Given the description of an element on the screen output the (x, y) to click on. 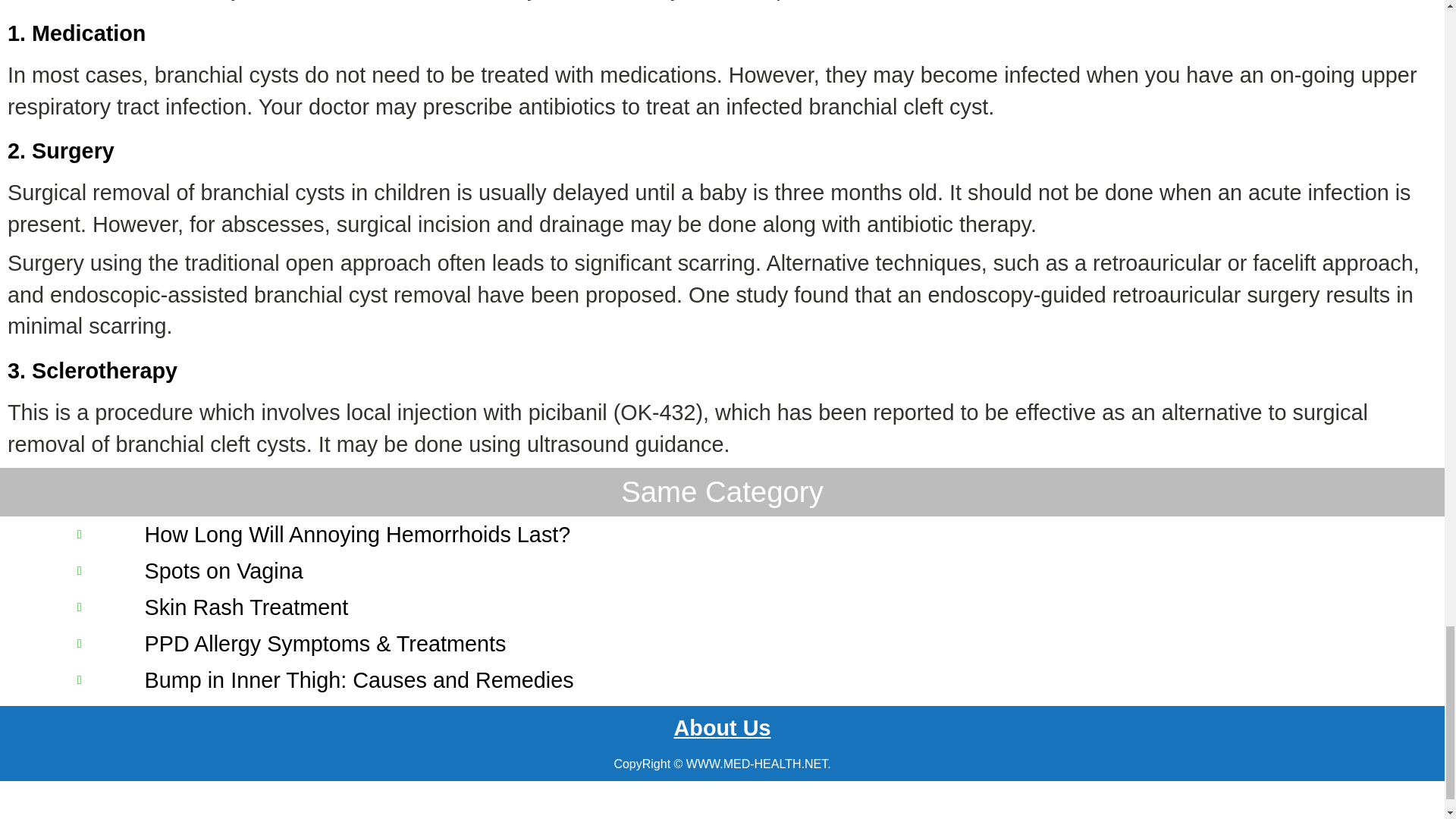
About Us (721, 727)
